Given the description of an element on the screen output the (x, y) to click on. 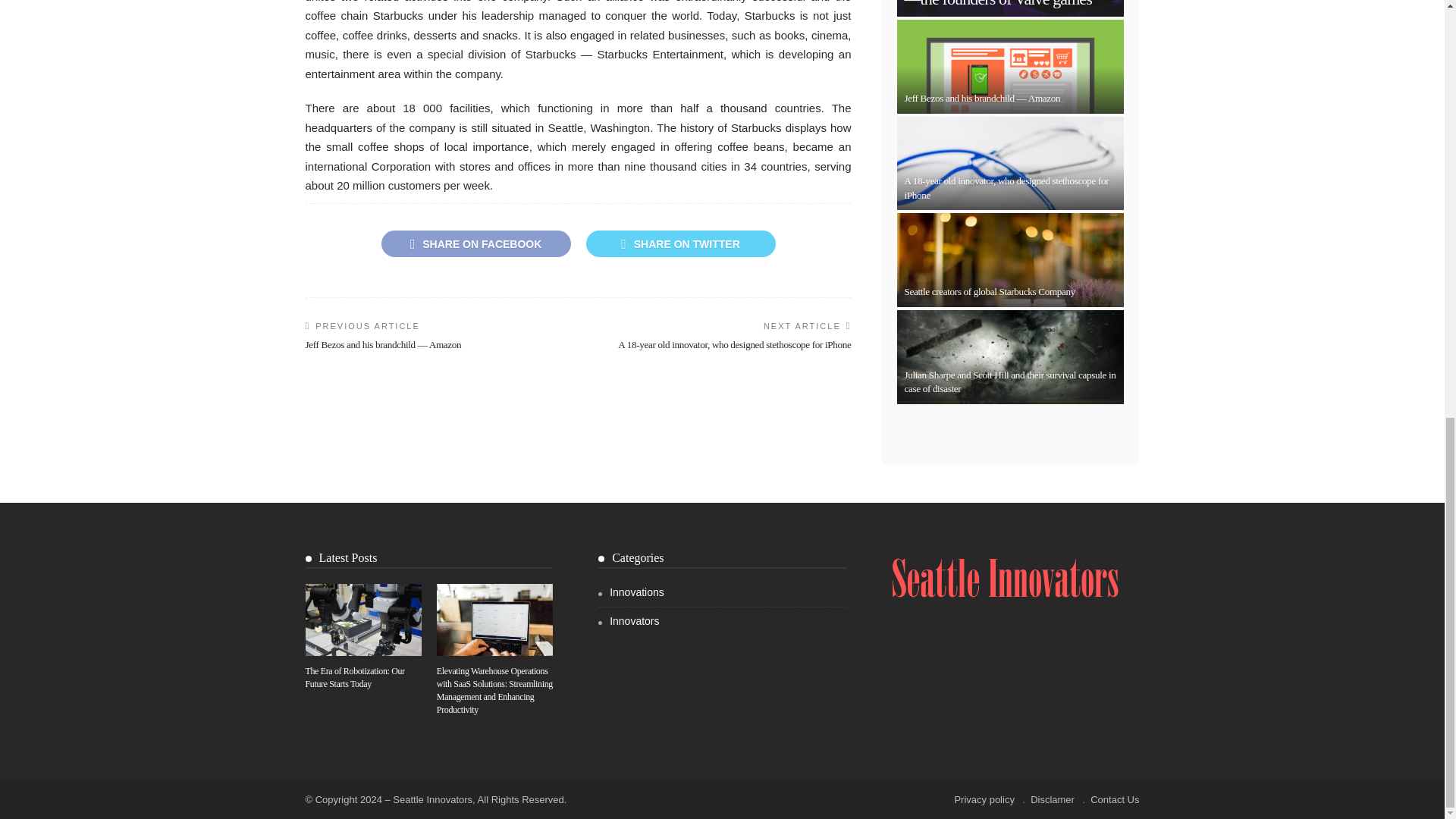
SHARE ON FACEBOOK (475, 243)
A 18-year old innovator, who designed stethoscope for iPhone (733, 344)
SHARE ON TWITTER (679, 243)
Seattle creators of global Starbucks Company (989, 291)
A 18-year old innovator, who designed stethoscope for iPhone (733, 344)
A 18-year old innovator, who designed stethoscope for iPhone (1006, 187)
A 18-year old innovator, who designed stethoscope for iPhone (1006, 187)
A 18-year old innovator, who designed stethoscope for iPhone (1010, 163)
